Given the description of an element on the screen output the (x, y) to click on. 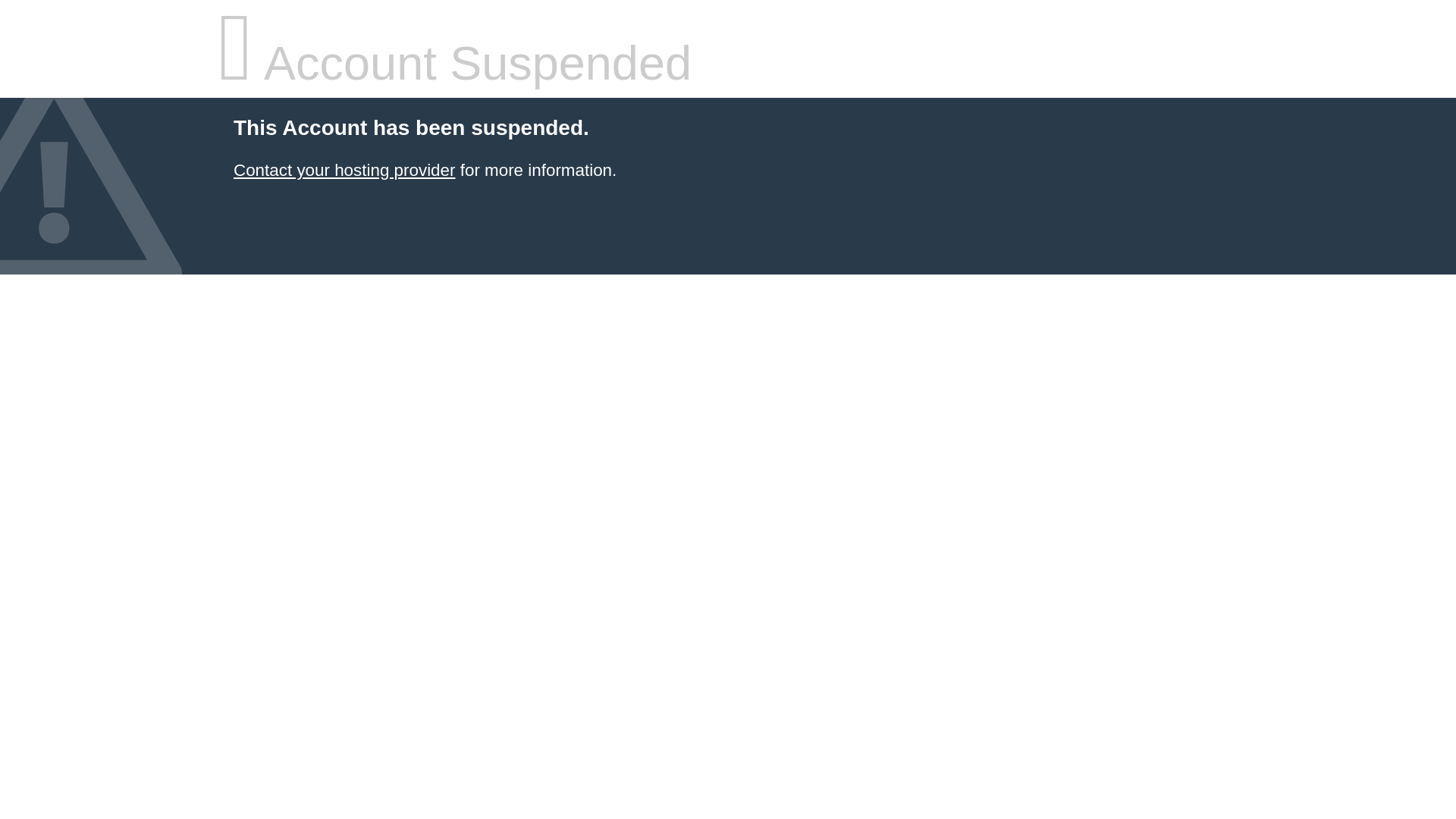
Contact your hosting provider (343, 169)
